Given the description of an element on the screen output the (x, y) to click on. 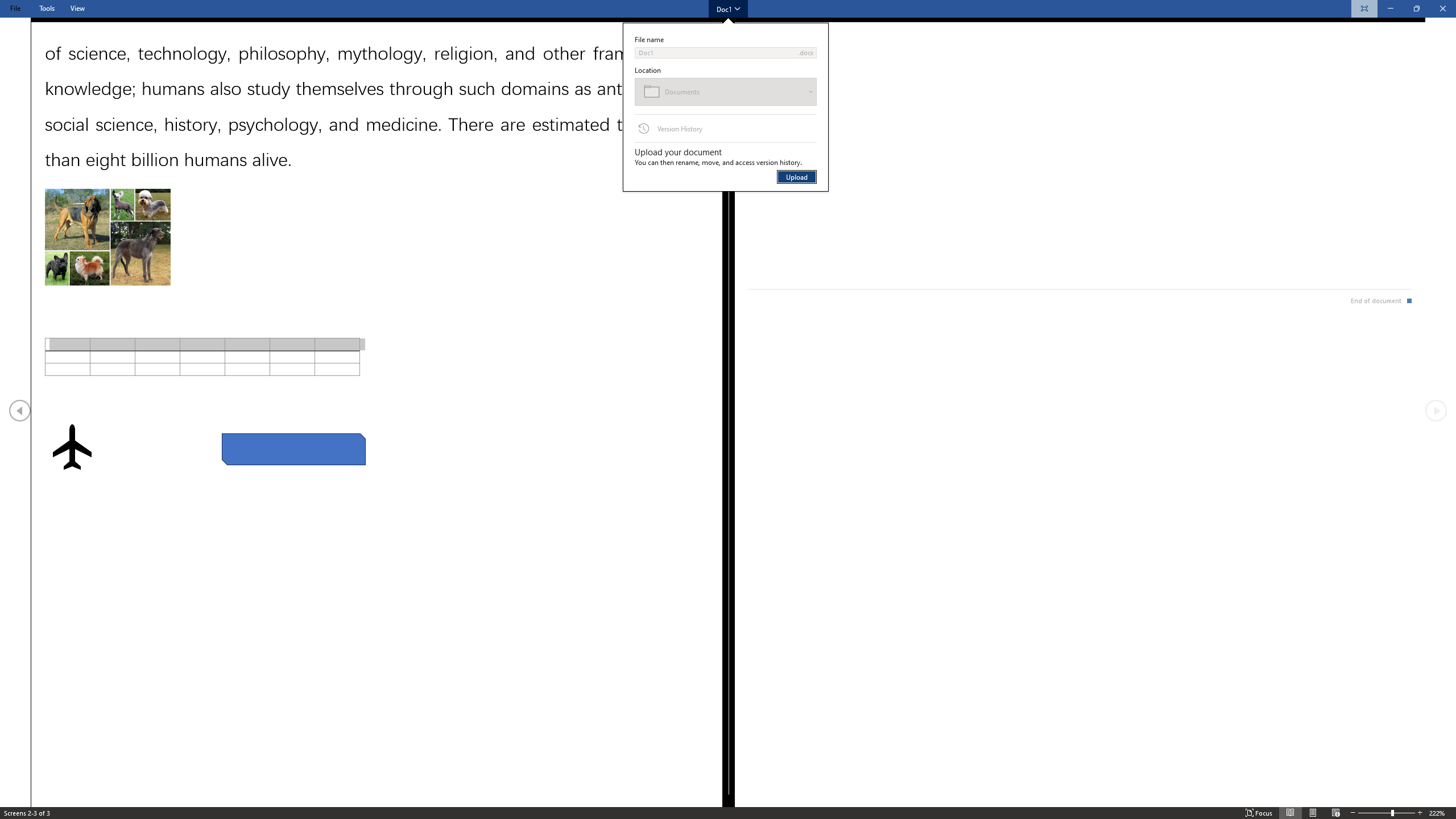
Morphological variation in six dogs (106, 237)
Show the Ribbon (711, 5)
Airplane with solid fill (71, 446)
Rectangle: Diagonal Corners Snipped 2 (293, 449)
Always Show Reading Toolbar (1364, 9)
Class: NetUIAnchor (728, 5)
Tools (46, 8)
